Given the description of an element on the screen output the (x, y) to click on. 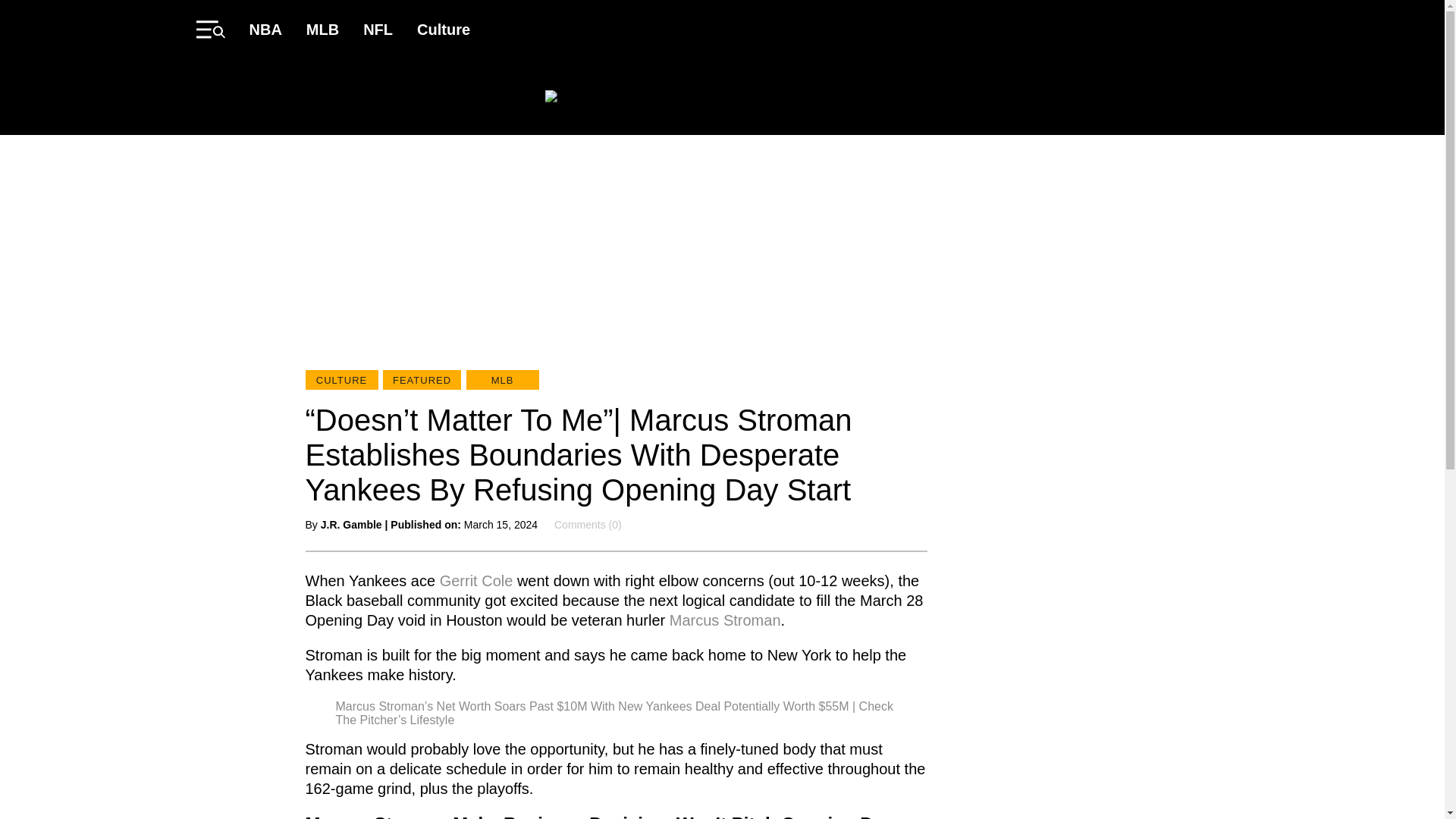
MLB (322, 29)
The Shadow League (721, 97)
FEATURED (421, 379)
NFL (377, 29)
J.R. Gamble (350, 524)
NBA (264, 29)
Marcus Stroman (724, 619)
Culture (443, 29)
Gerrit Cole (476, 579)
CULTURE (340, 379)
